Given the description of an element on the screen output the (x, y) to click on. 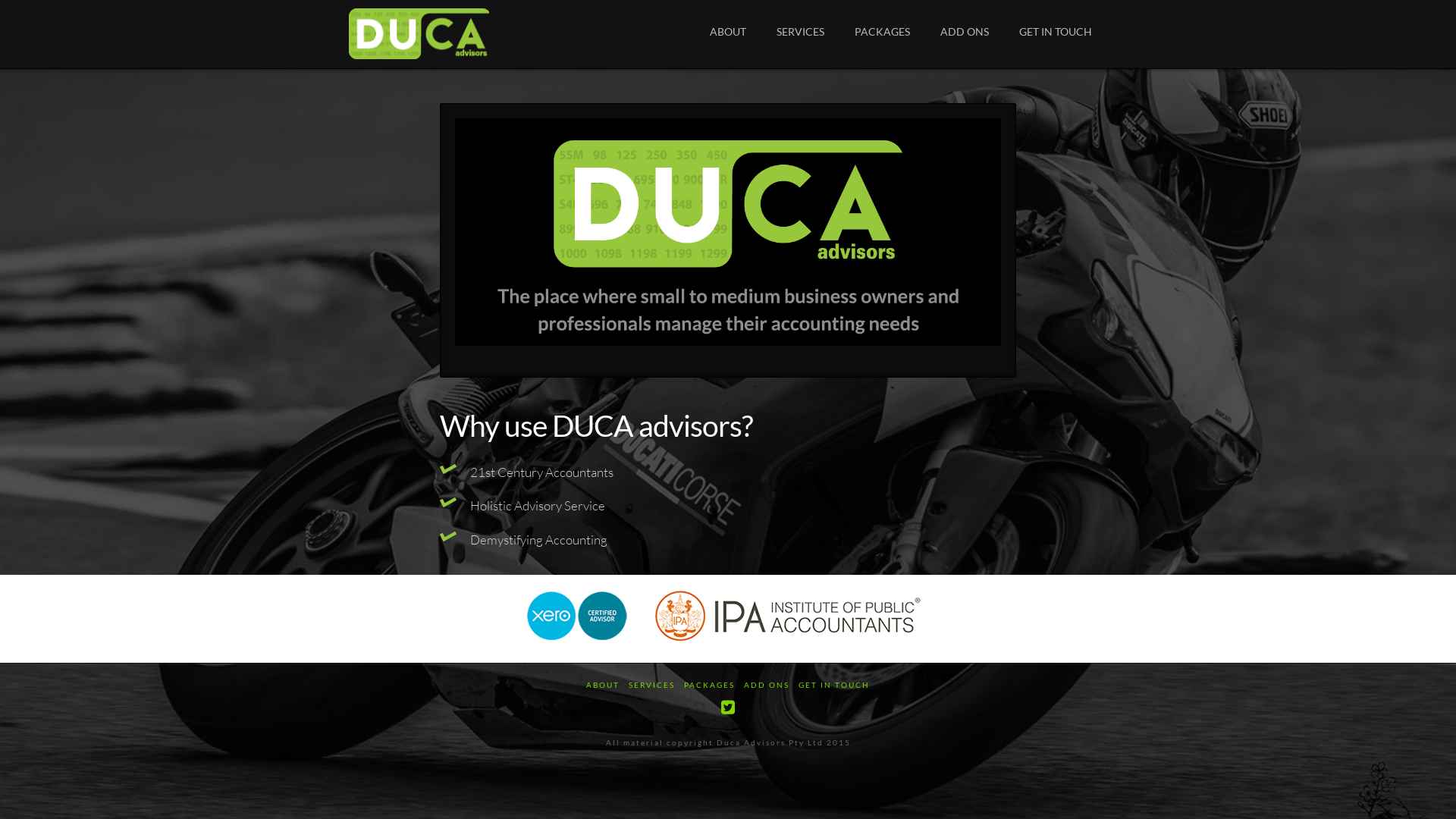
21st Century Business and Taxation advisors Element type: hover (418, 33)
PACKAGES Element type: text (882, 34)
SERVICES Element type: text (800, 34)
ABOUT Element type: text (727, 34)
ADD ONS Element type: text (766, 684)
ADD ONS Element type: text (964, 34)
GET IN TOUCH Element type: text (1055, 34)
SERVICES Element type: text (651, 684)
ABOUT Element type: text (602, 684)
Twitter Element type: hover (727, 707)
GET IN TOUCH Element type: text (833, 684)
PACKAGES Element type: text (709, 684)
